Given the description of an element on the screen output the (x, y) to click on. 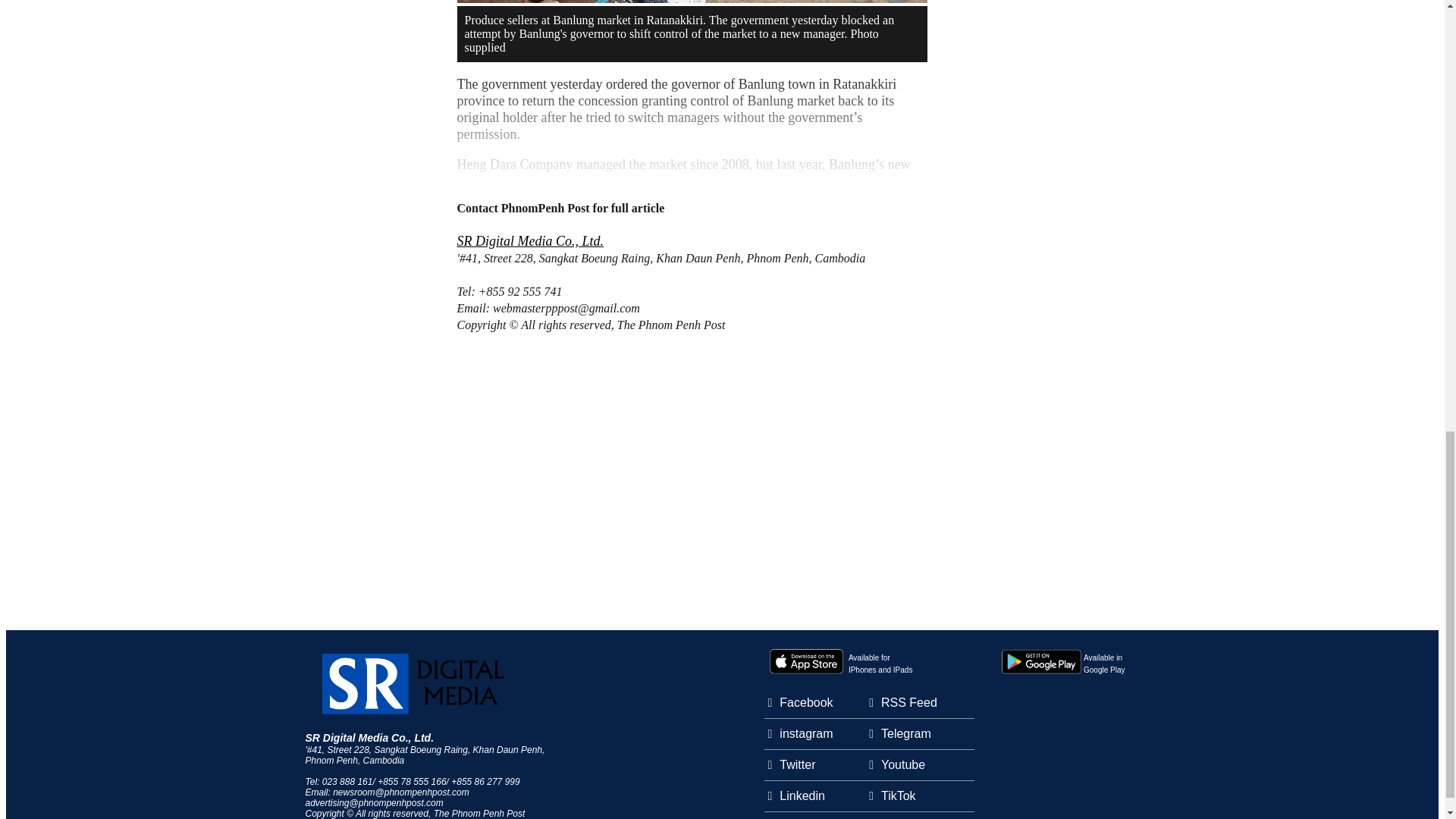
SR Digital Media Co., Ltd. (368, 737)
Twitter (796, 765)
Linkedin (801, 796)
instagram (880, 663)
Facebook (805, 734)
SR Digital Media Co., Ltd. (1103, 663)
